Given the description of an element on the screen output the (x, y) to click on. 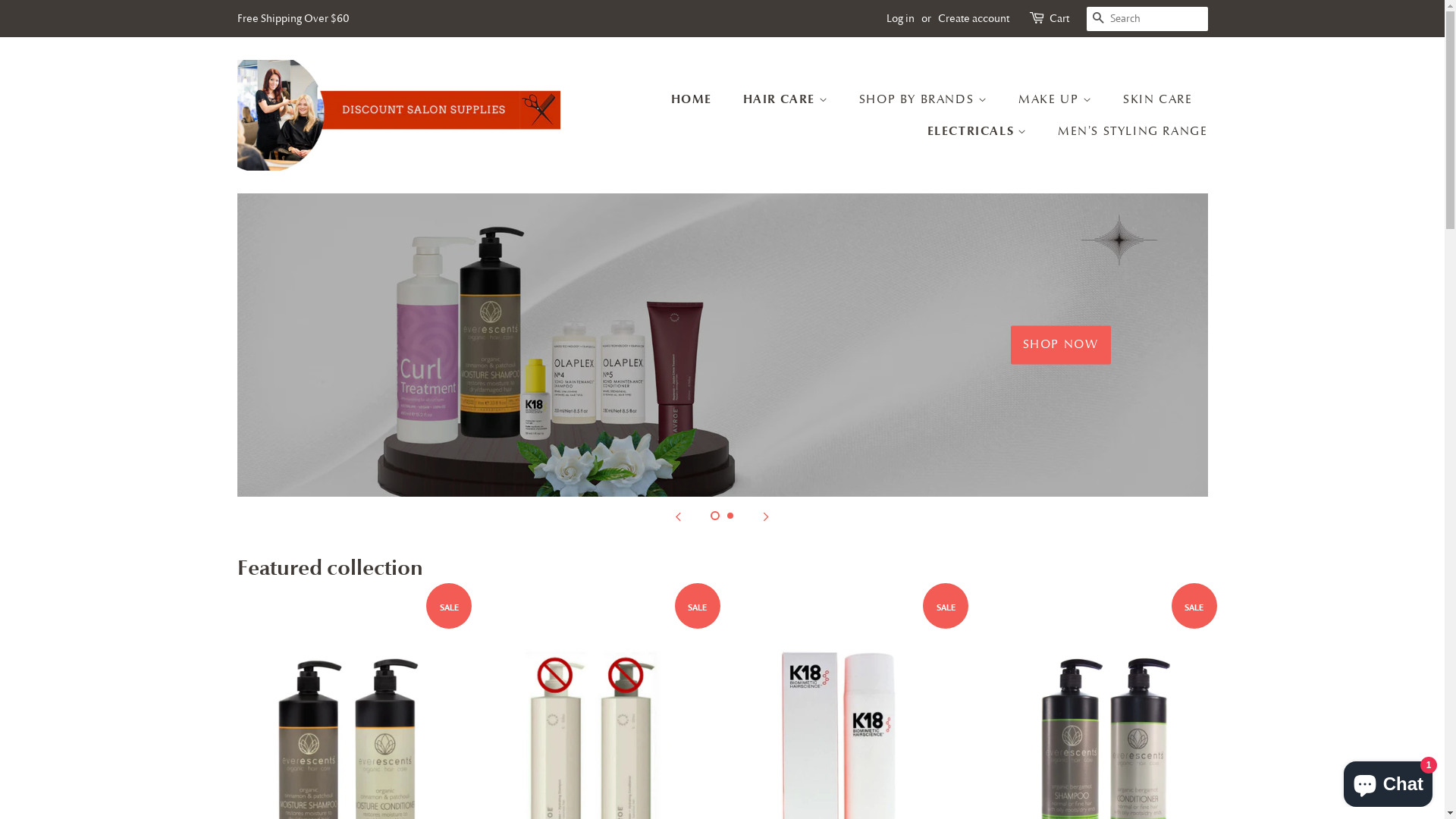
SHOP BY BRANDS Element type: text (925, 99)
2 Element type: text (729, 515)
SHOP NOW Element type: text (1060, 345)
HAIR CARE Element type: text (787, 98)
Cart Element type: text (1059, 18)
HOME Element type: text (699, 98)
1 Element type: text (713, 515)
Create account Element type: text (972, 18)
SKIN CARE Element type: text (1159, 99)
SEARCH Element type: text (1097, 18)
ELECTRICALS Element type: text (979, 130)
Shopify online store chat Element type: hover (1388, 780)
Log in Element type: text (899, 18)
MEN'S STYLING RANGE Element type: text (1126, 131)
MAKE UP Element type: text (1057, 99)
